Given the description of an element on the screen output the (x, y) to click on. 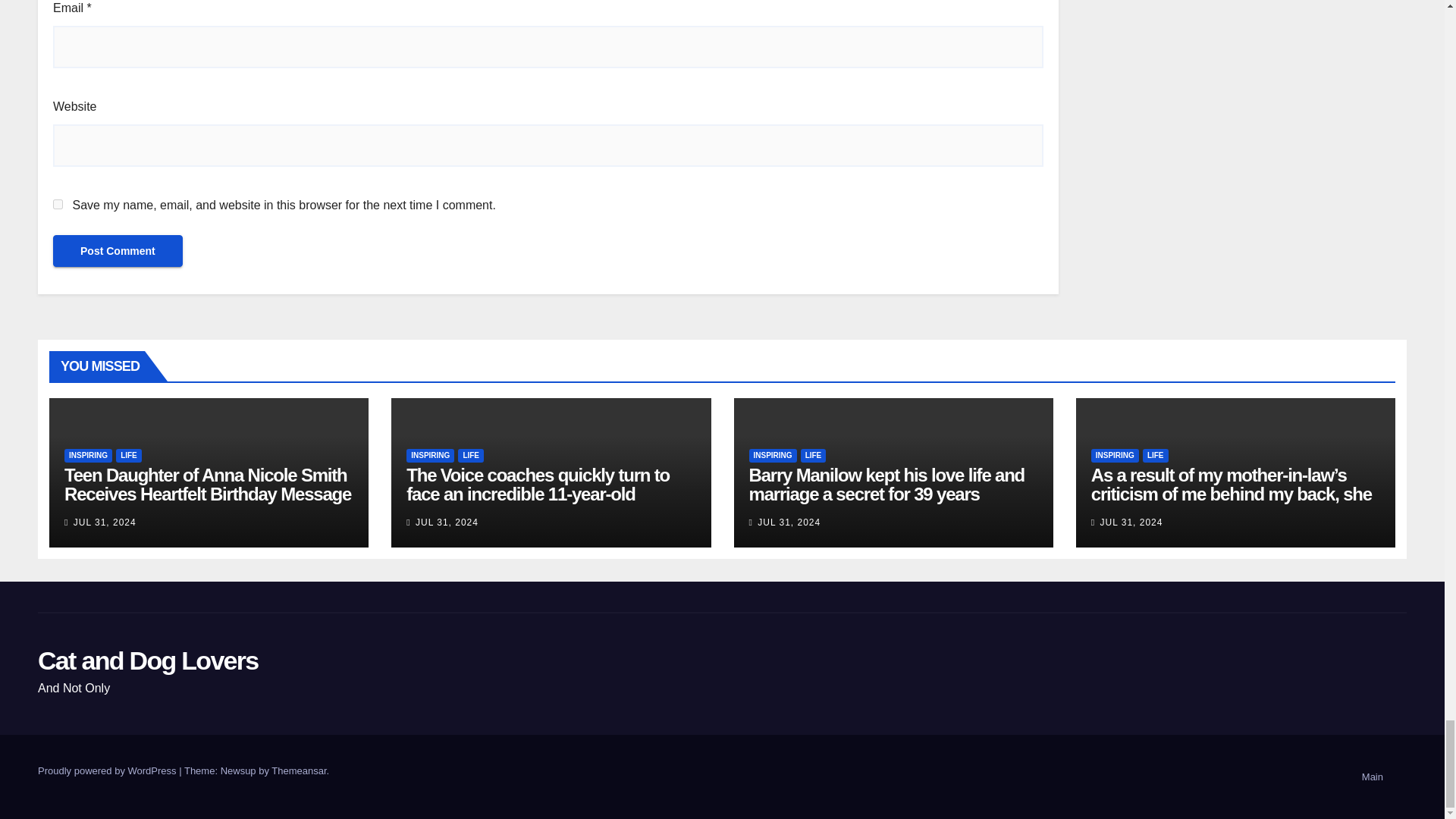
yes (57, 204)
Post Comment (117, 250)
Post Comment (117, 250)
Main (1371, 776)
